Given the description of an element on the screen output the (x, y) to click on. 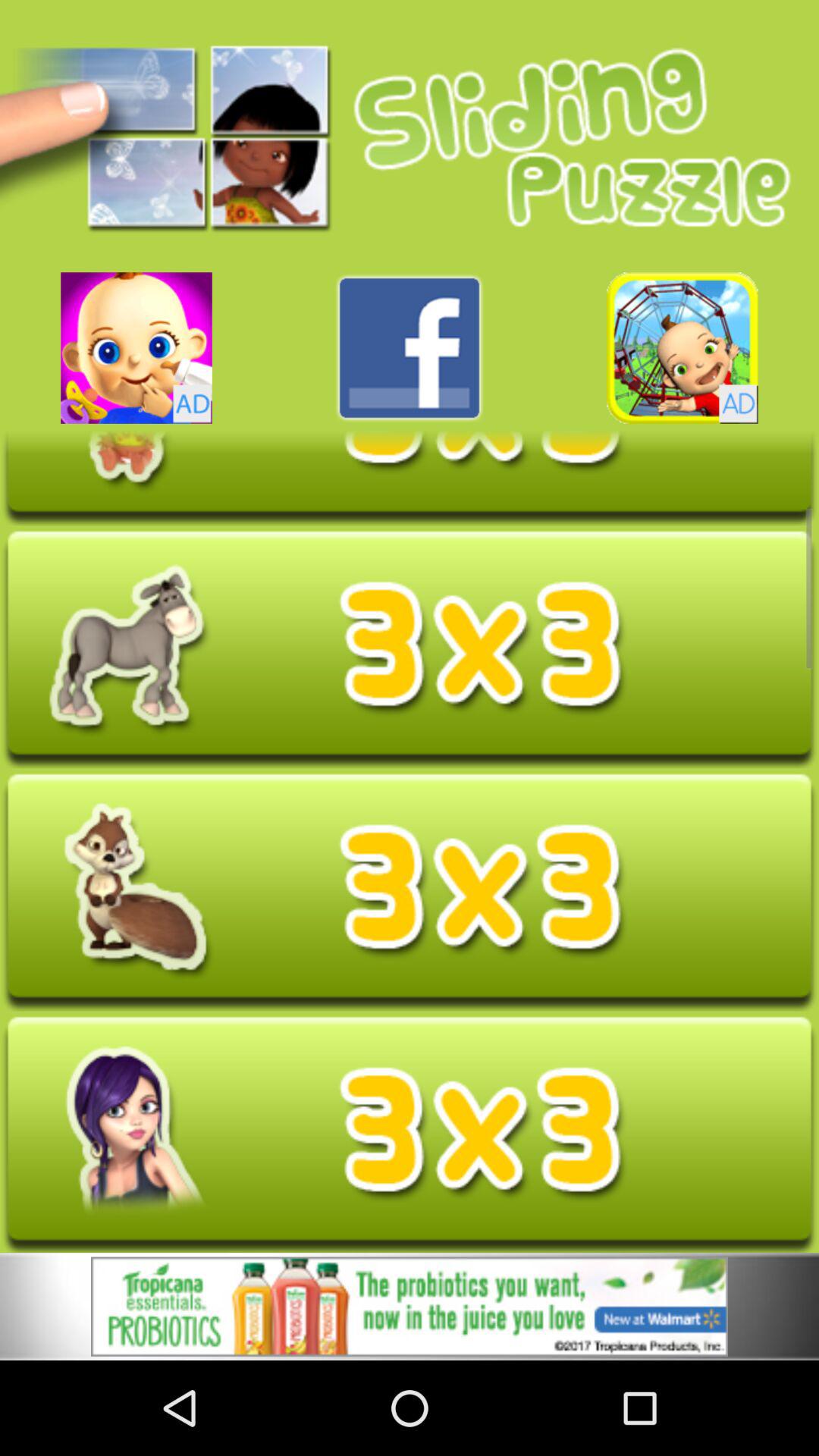
click icon (409, 648)
